Given the description of an element on the screen output the (x, y) to click on. 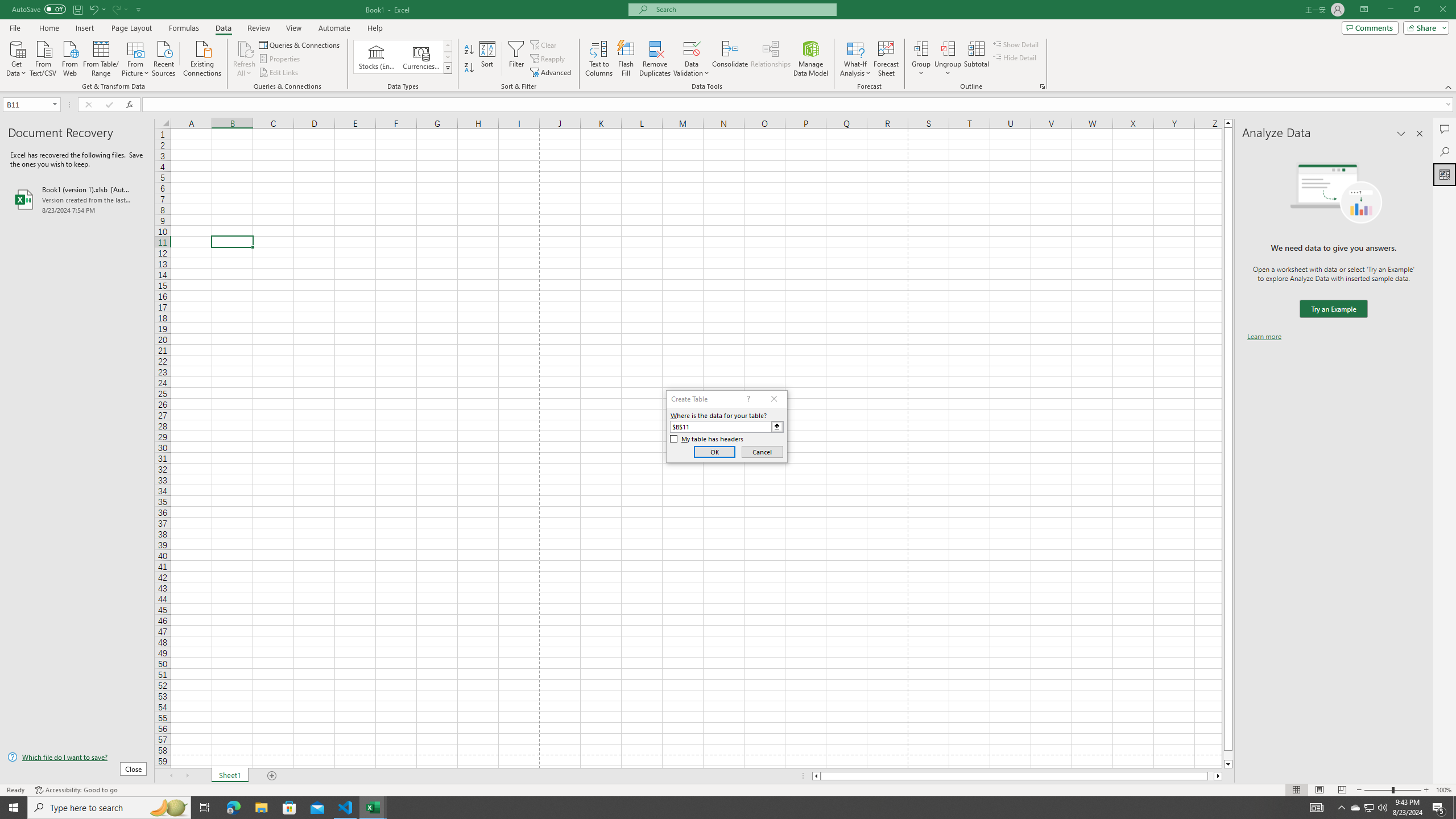
Formula Bar (799, 104)
Row Down (448, 56)
Clear (544, 44)
From Web (69, 57)
From Text/CSV (43, 57)
Hide Detail (1014, 56)
